Given the description of an element on the screen output the (x, y) to click on. 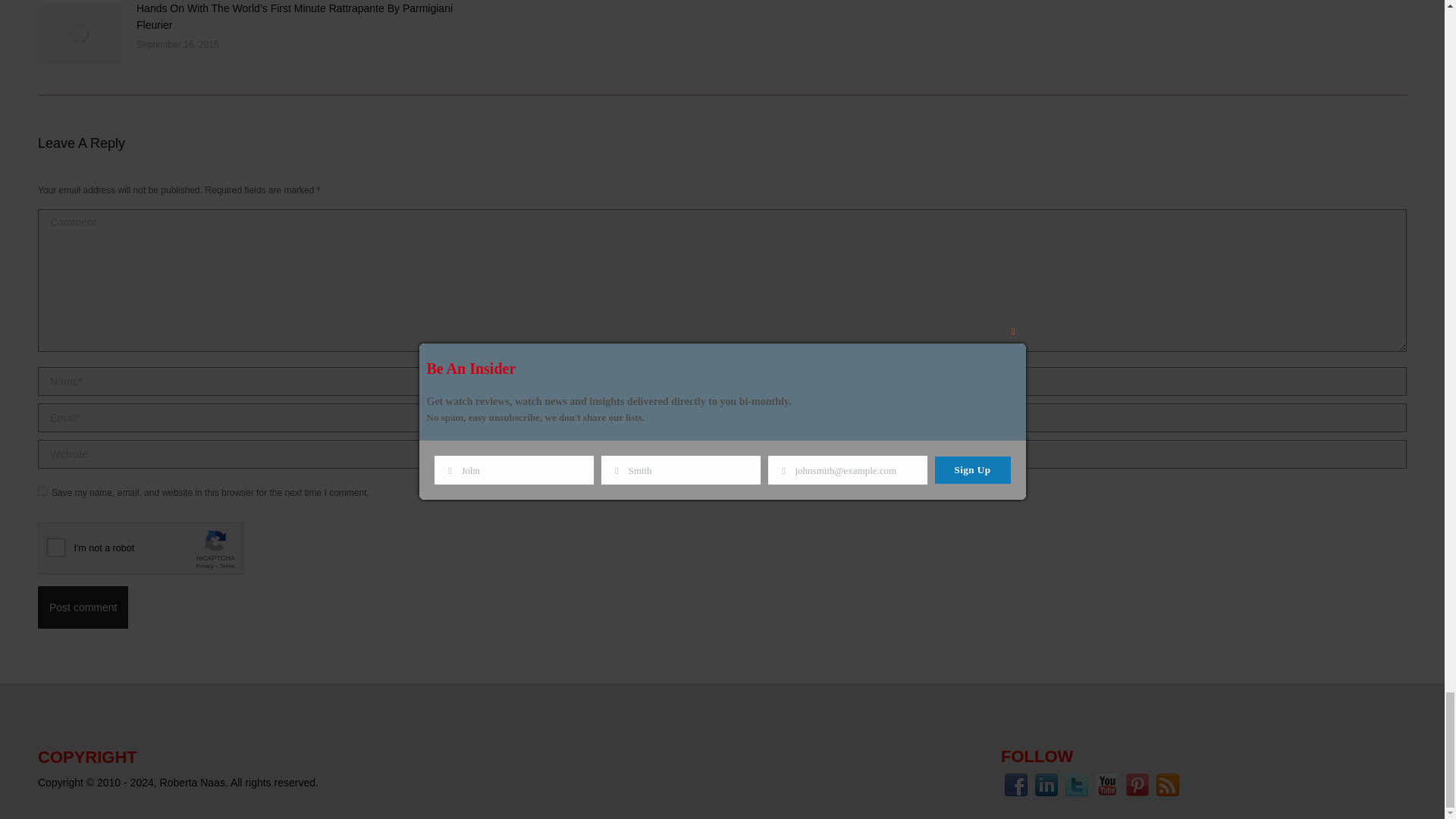
yes (42, 491)
